Given the description of an element on the screen output the (x, y) to click on. 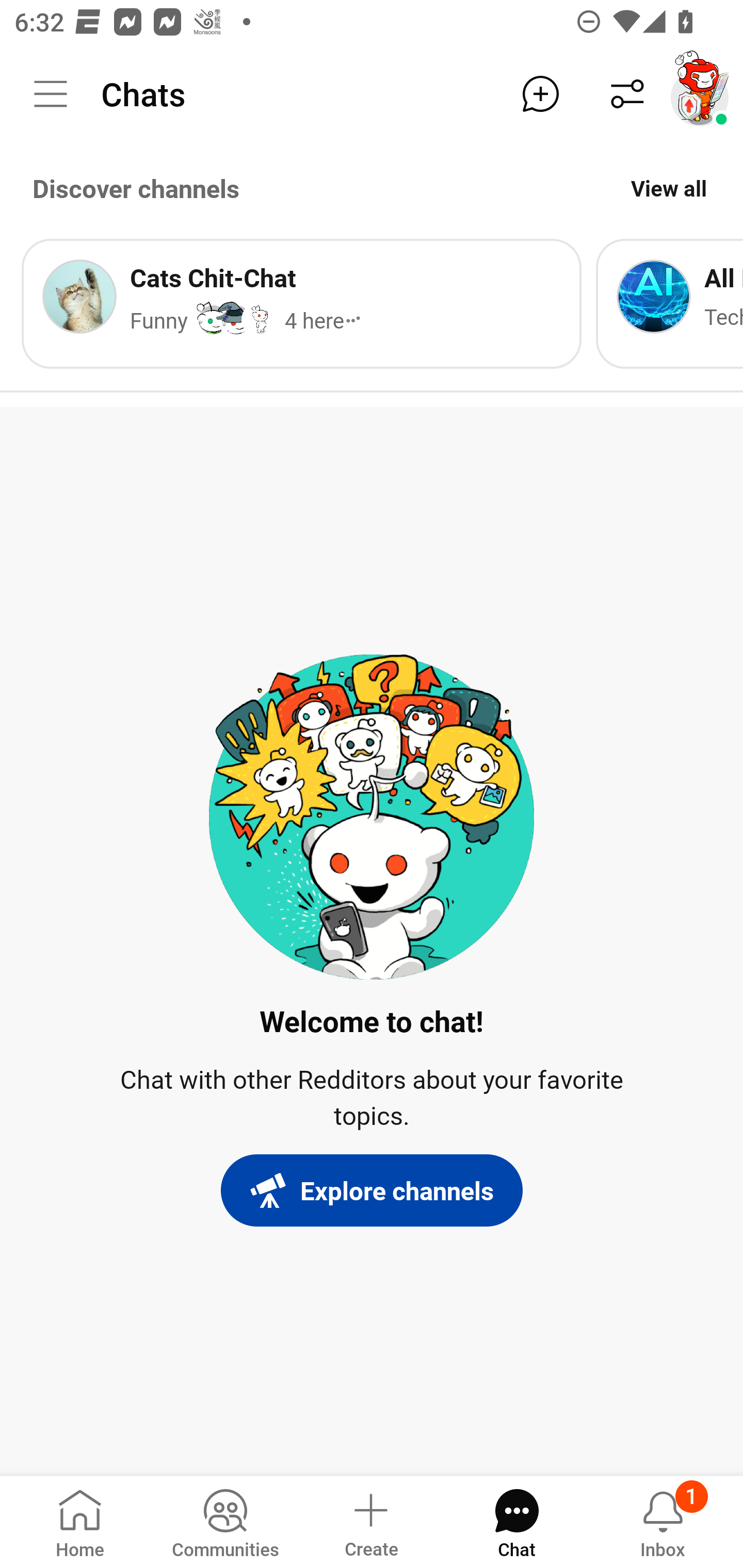
Community menu (50, 93)
New chat (540, 93)
Filter chats (626, 93)
TestAppium002 account (699, 93)
View all (668, 188)
Chat icon Cats Chit-Chat Funny 4 here (301, 303)
Explore channels (371, 1190)
Home (80, 1520)
Communities (225, 1520)
Create a post Create (370, 1520)
Chat (516, 1520)
Inbox, has 1 notification 1 Inbox (662, 1520)
